Given the description of an element on the screen output the (x, y) to click on. 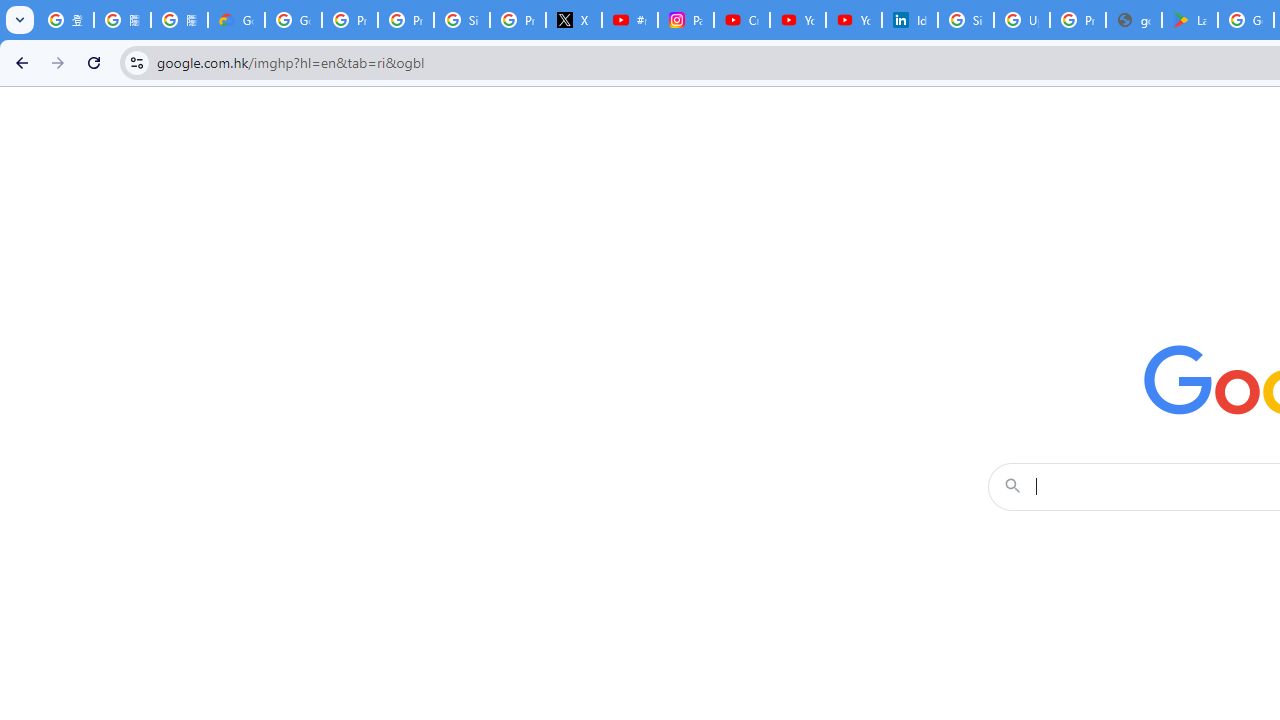
Sign in - Google Accounts (461, 20)
Last Shelter: Survival - Apps on Google Play (1190, 20)
